Given the description of an element on the screen output the (x, y) to click on. 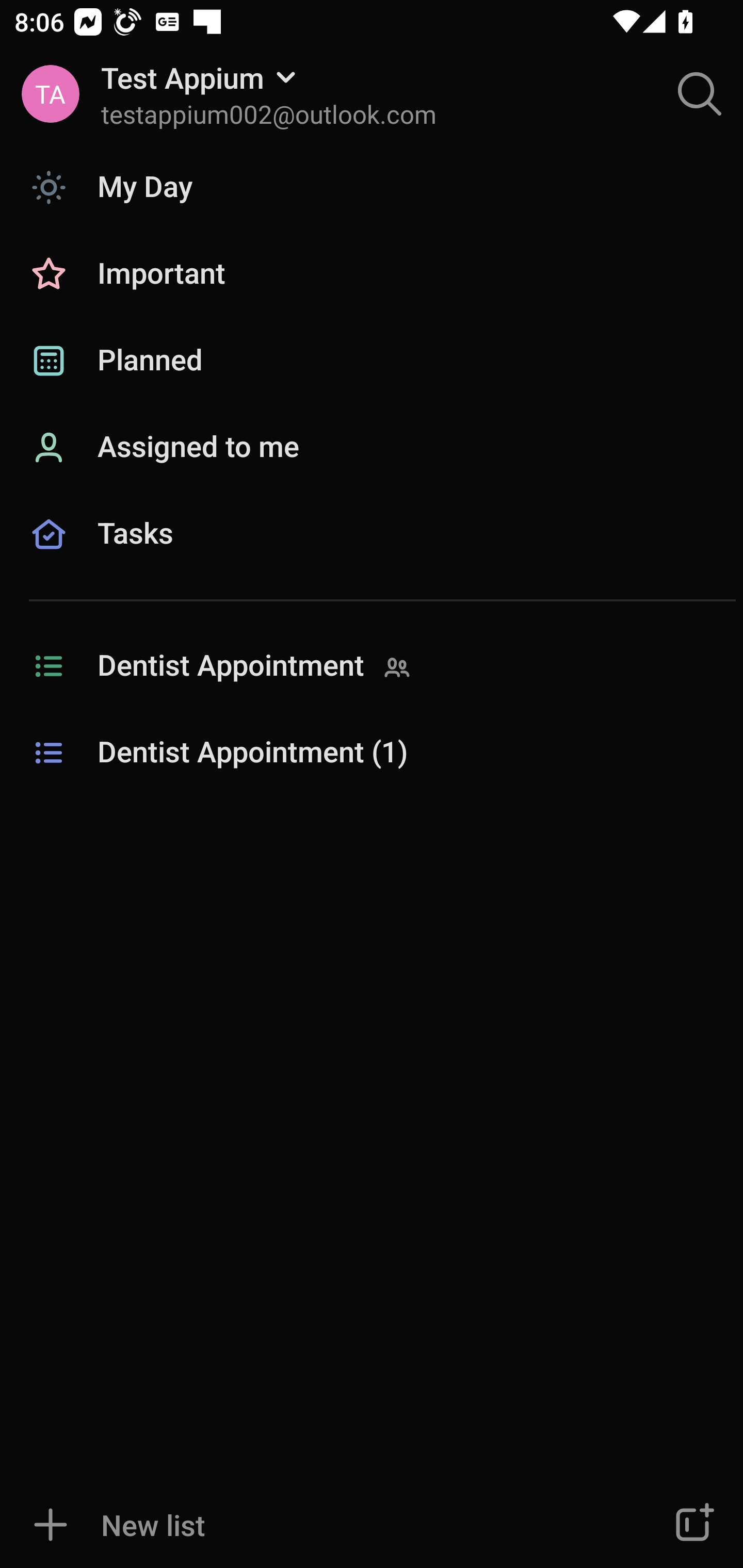
Enter search (699, 93)
My Day, 0 tasks My Day (371, 187)
Important, 0 tasks Important (371, 274)
Planned, 0 tasks Planned (371, 361)
Assigned to me, 0 tasks Assigned to me (371, 447)
Tasks (371, 556)
Dentist Appointment (1) (371, 753)
New list (312, 1524)
Create group (692, 1524)
